Given the description of an element on the screen output the (x, y) to click on. 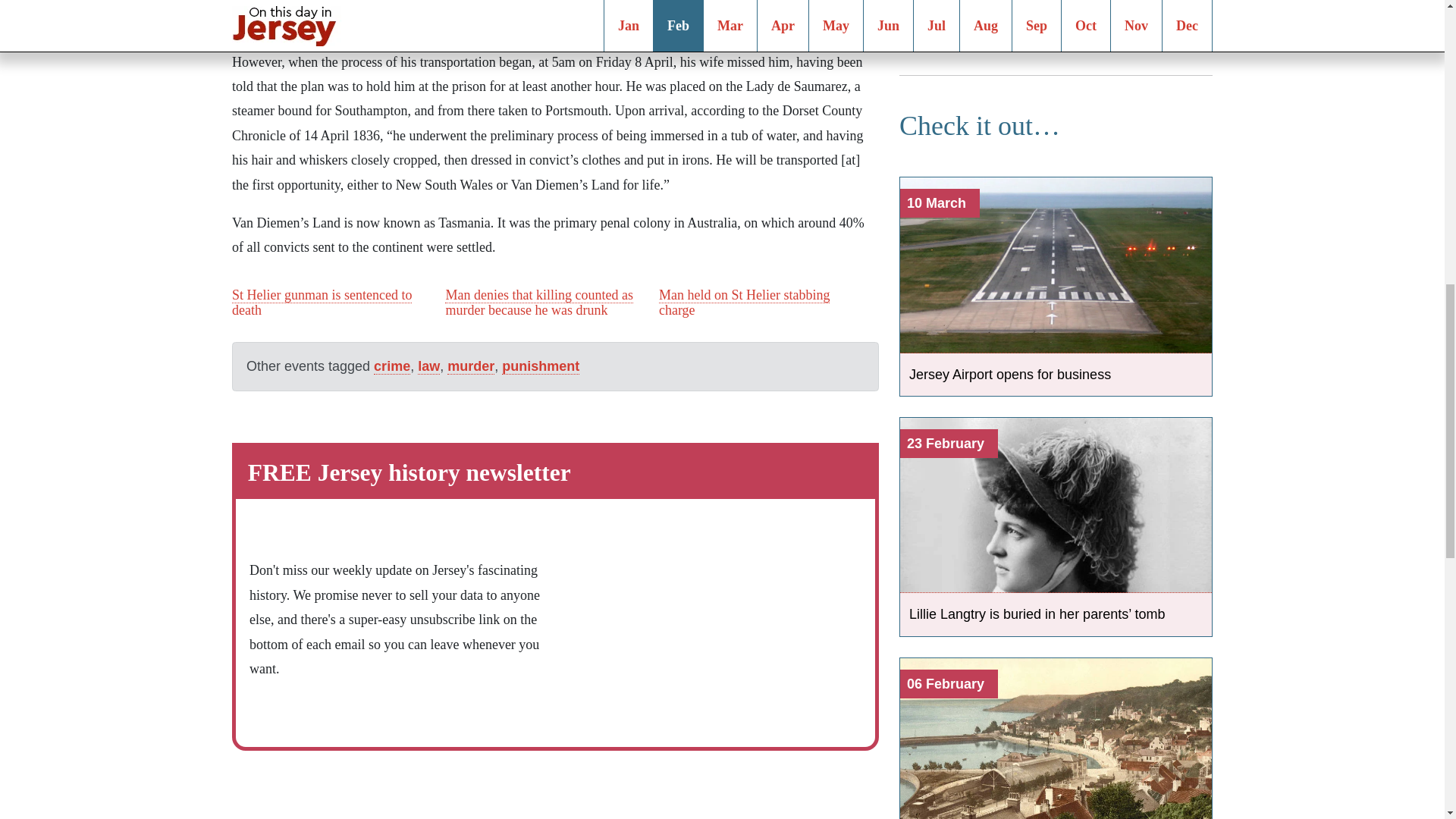
punishment (540, 366)
St Helier gunman is sentenced to death (321, 302)
St Helier gunman is sentenced to death (321, 302)
Go (1175, 7)
law (428, 366)
Man held on St Helier stabbing charge (744, 302)
Jersey Airport opens for business (1055, 373)
10 March (1055, 196)
